Given the description of an element on the screen output the (x, y) to click on. 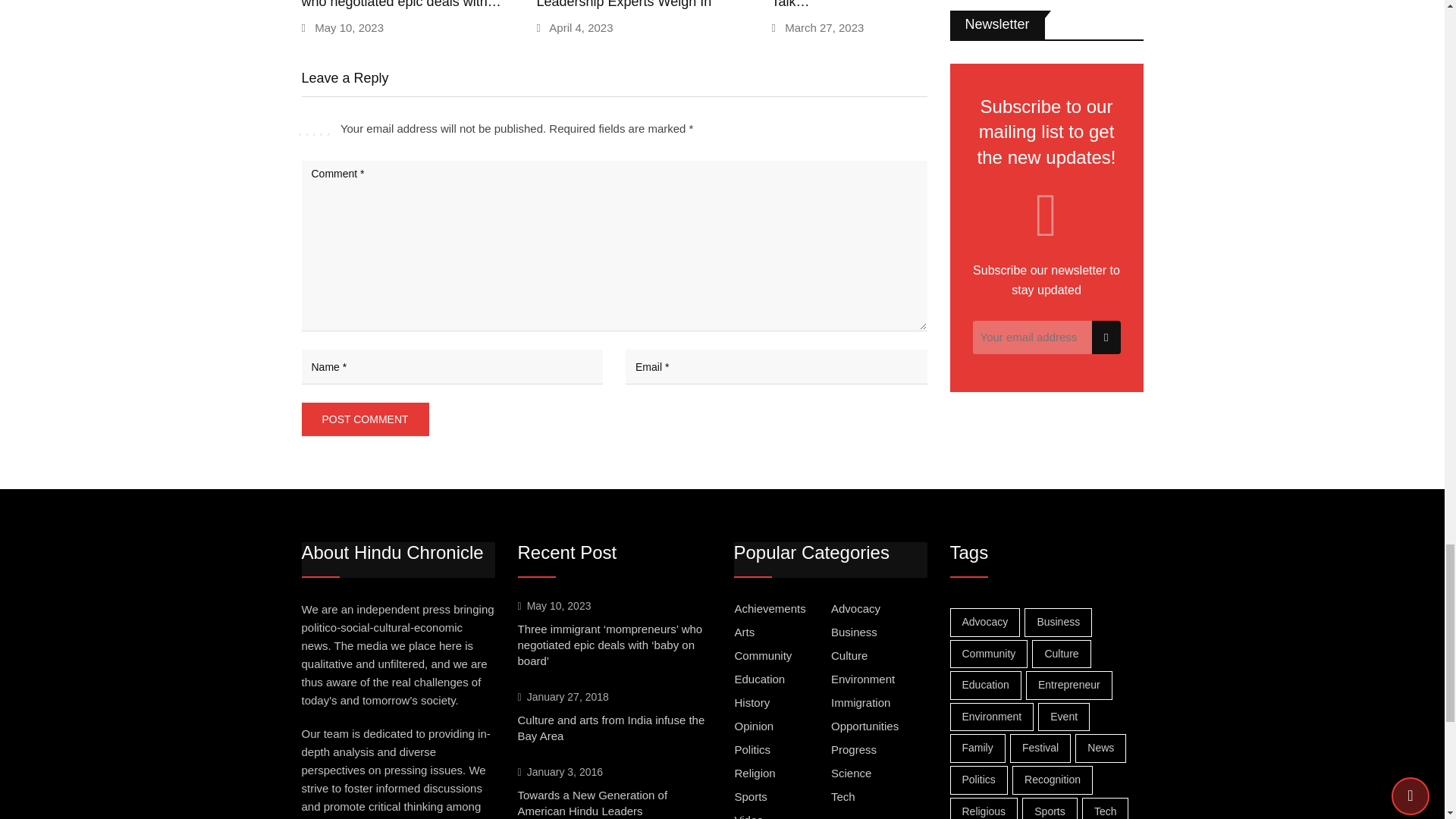
Post Comment (365, 418)
